Given the description of an element on the screen output the (x, y) to click on. 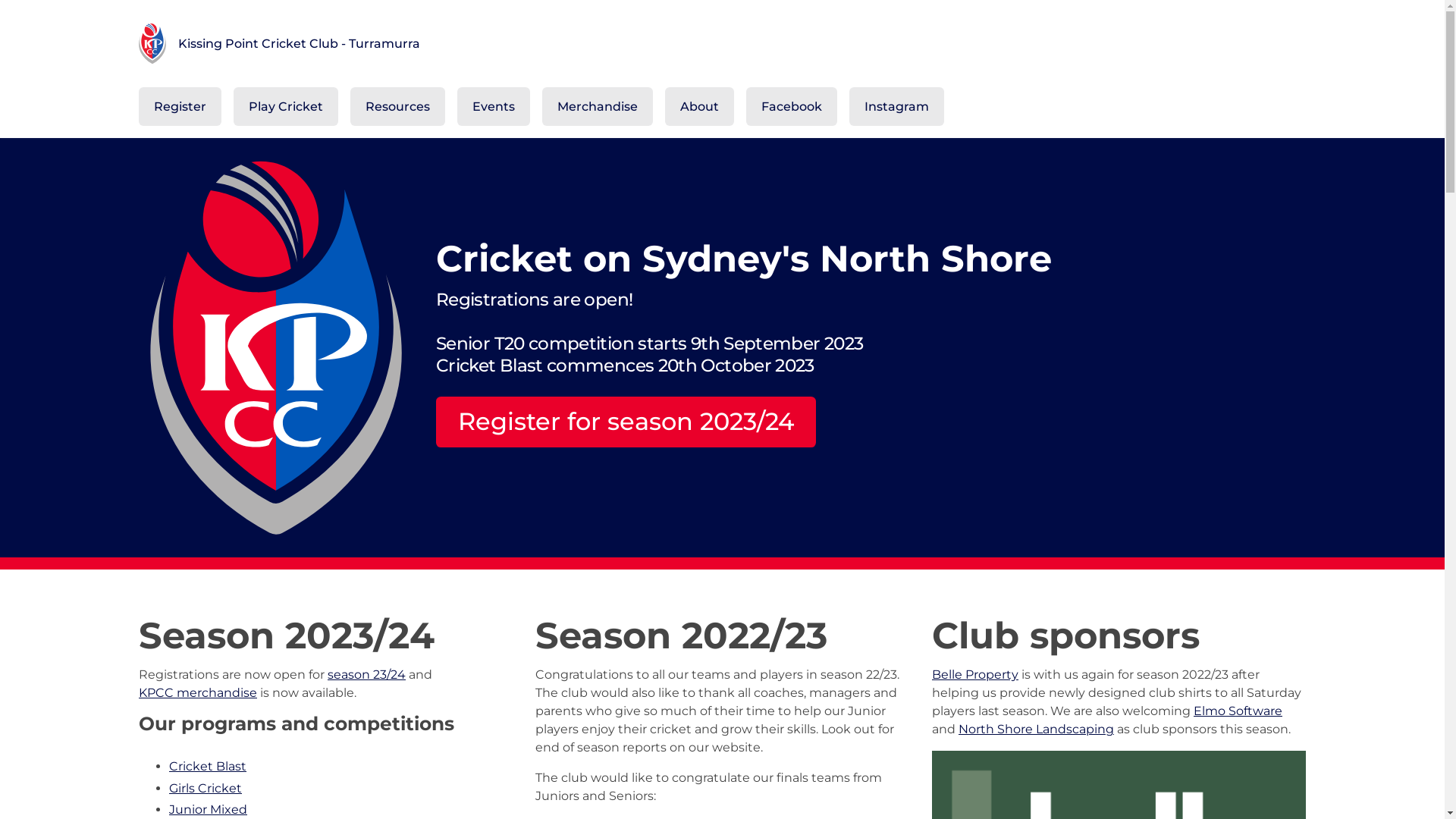
KPCC merchandise Element type: text (197, 692)
Play Cricket Element type: text (285, 106)
Merchandise Element type: text (596, 106)
Events Element type: text (492, 106)
Elmo Software Element type: text (1237, 710)
Register Element type: text (179, 106)
Register for season 2023/24 Element type: text (625, 421)
North Shore Landscaping Element type: text (1035, 728)
Belle Property Element type: text (974, 674)
Junior Mixed Element type: text (207, 809)
Kissing Point Cricket Club - Turramurra Element type: text (721, 43)
Instagram Element type: text (896, 106)
season 23/24 Element type: text (366, 674)
Girls Cricket Element type: text (204, 787)
About Element type: text (698, 106)
Resources Element type: text (397, 106)
Cricket Blast Element type: text (206, 765)
Facebook Element type: text (791, 106)
